Given the description of an element on the screen output the (x, y) to click on. 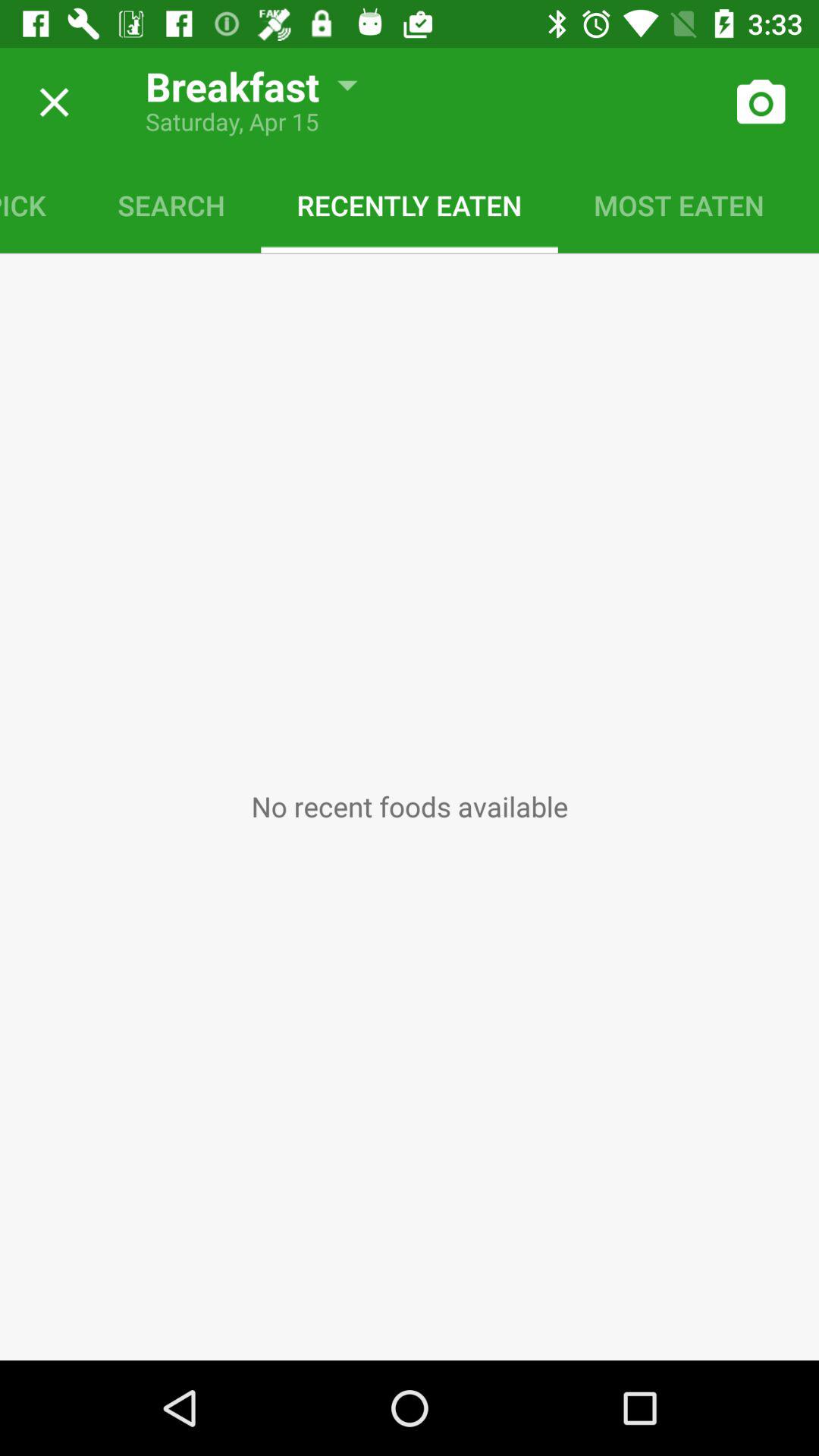
click item to the right of recently eaten (678, 205)
